Given the description of an element on the screen output the (x, y) to click on. 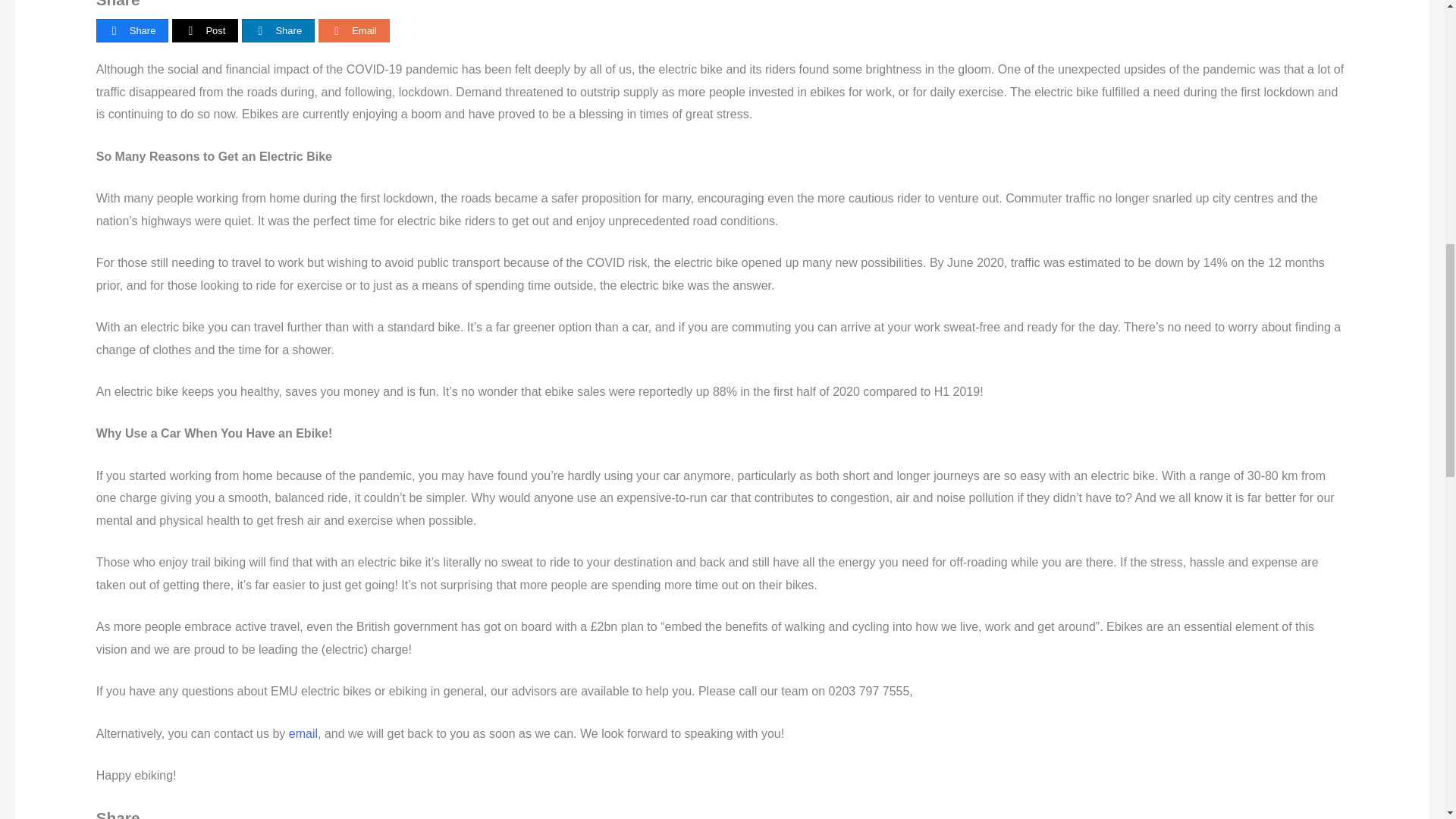
email (302, 733)
Share (278, 30)
Post (205, 30)
Share (132, 30)
Email (353, 30)
